Given the description of an element on the screen output the (x, y) to click on. 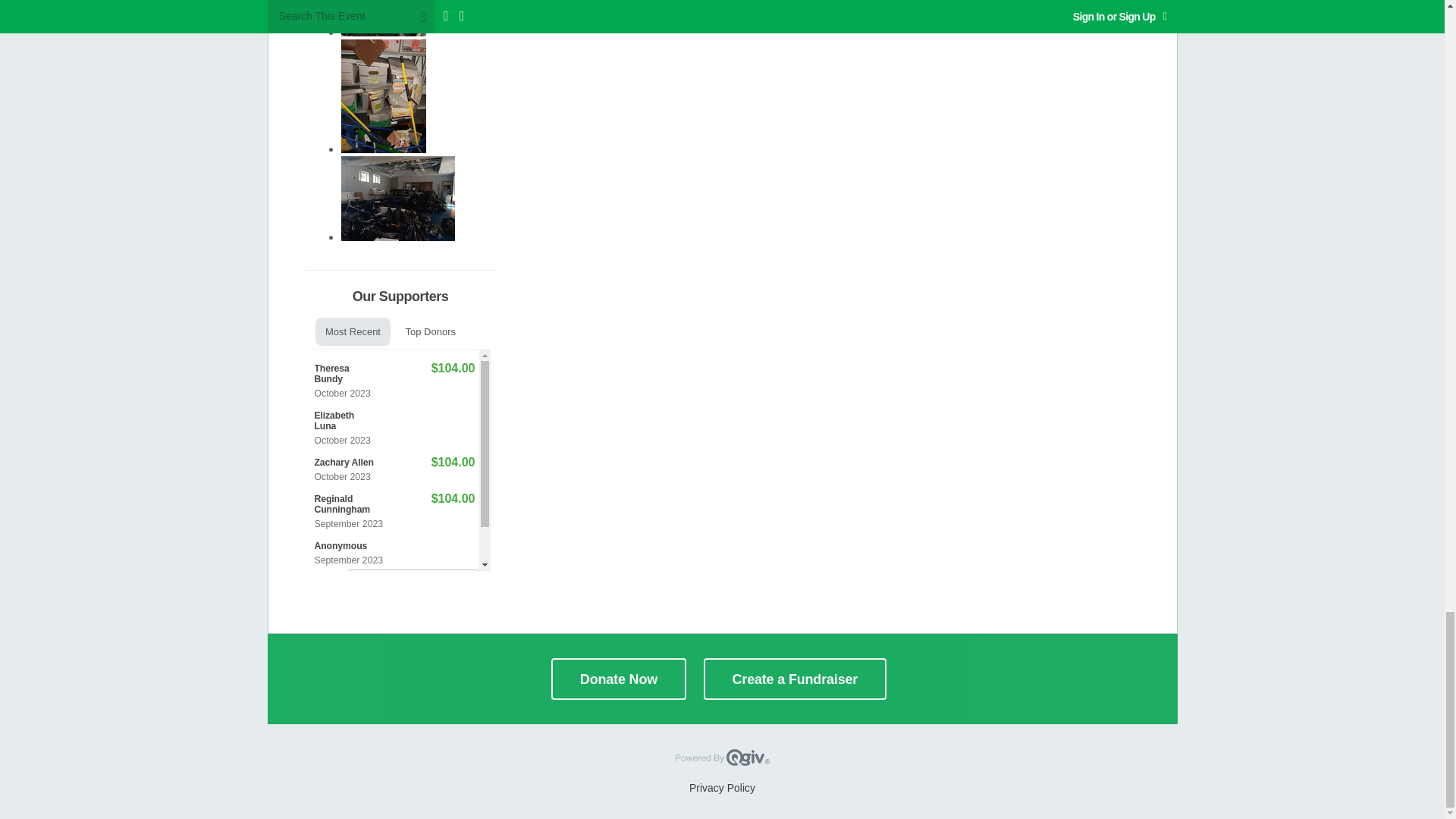
Top Donors (429, 331)
Most Recent (352, 331)
View More Recent Supporters (413, 585)
